Given the description of an element on the screen output the (x, y) to click on. 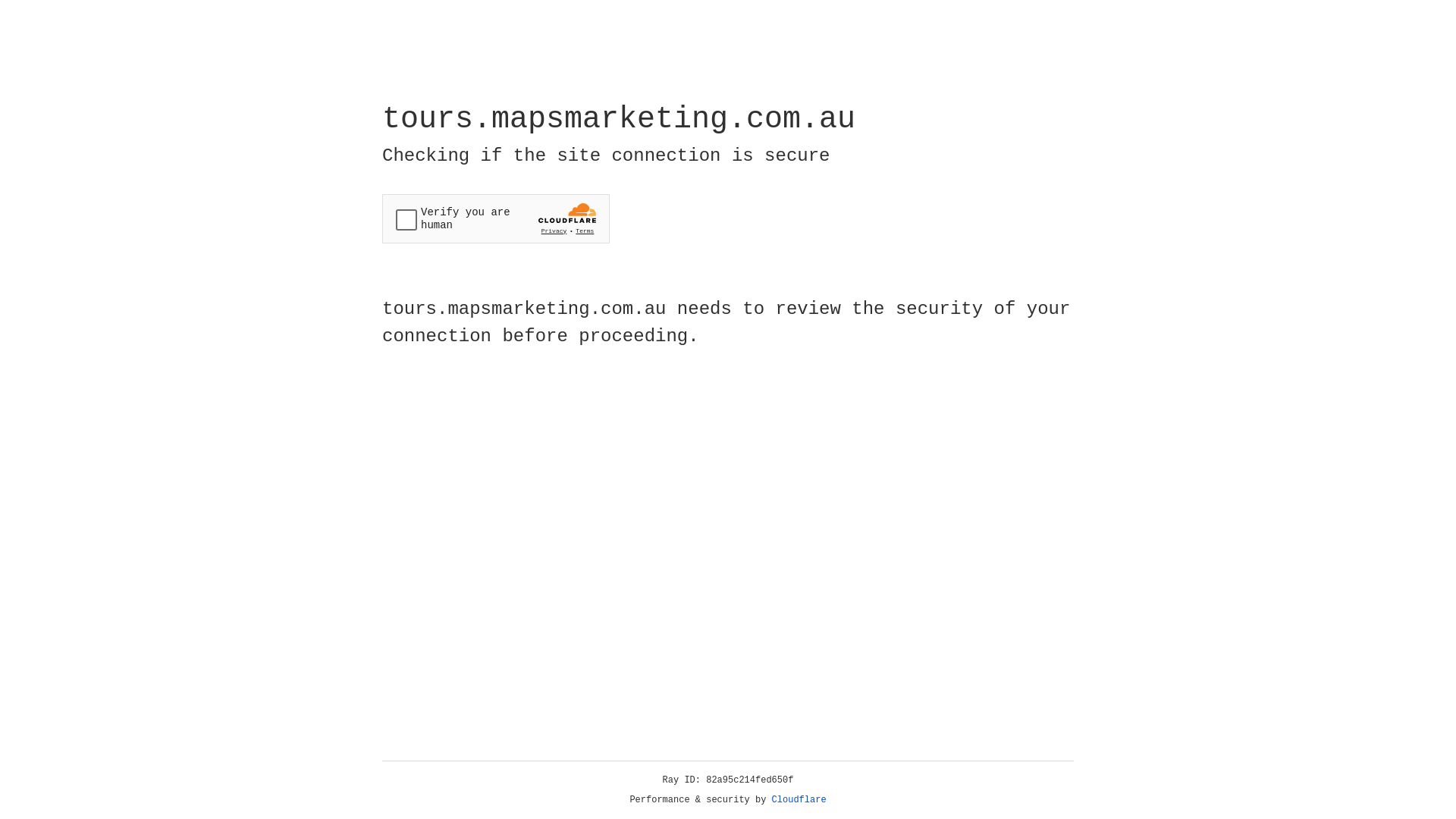
Widget containing a Cloudflare security challenge Element type: hover (495, 218)
Cloudflare Element type: text (798, 799)
